Given the description of an element on the screen output the (x, y) to click on. 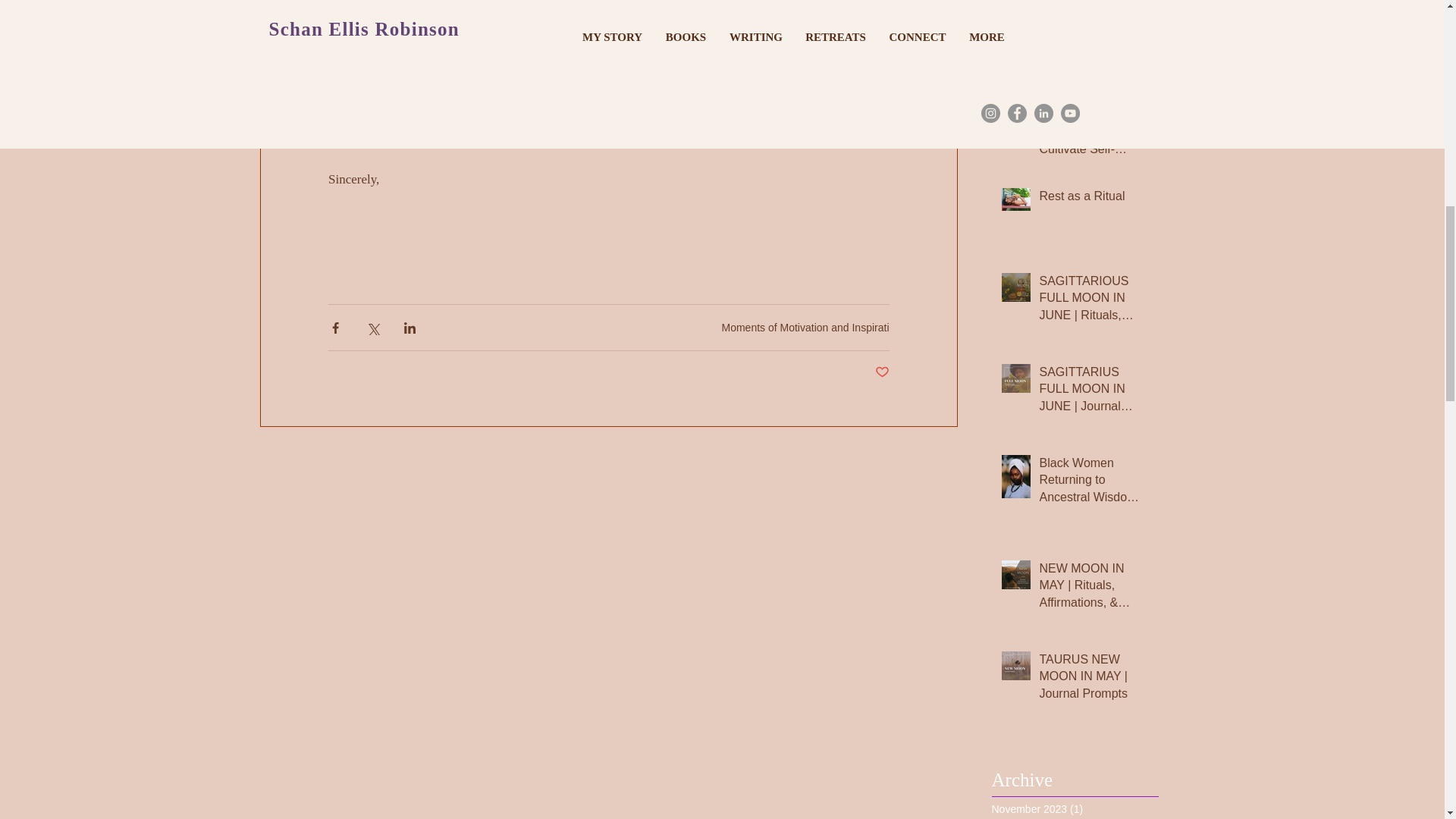
7 Self Love Journal Prompts to Bring in June (1093, 29)
Moments of Motivation and Inspirati (805, 327)
Post not marked as liked (882, 372)
